Given the description of an element on the screen output the (x, y) to click on. 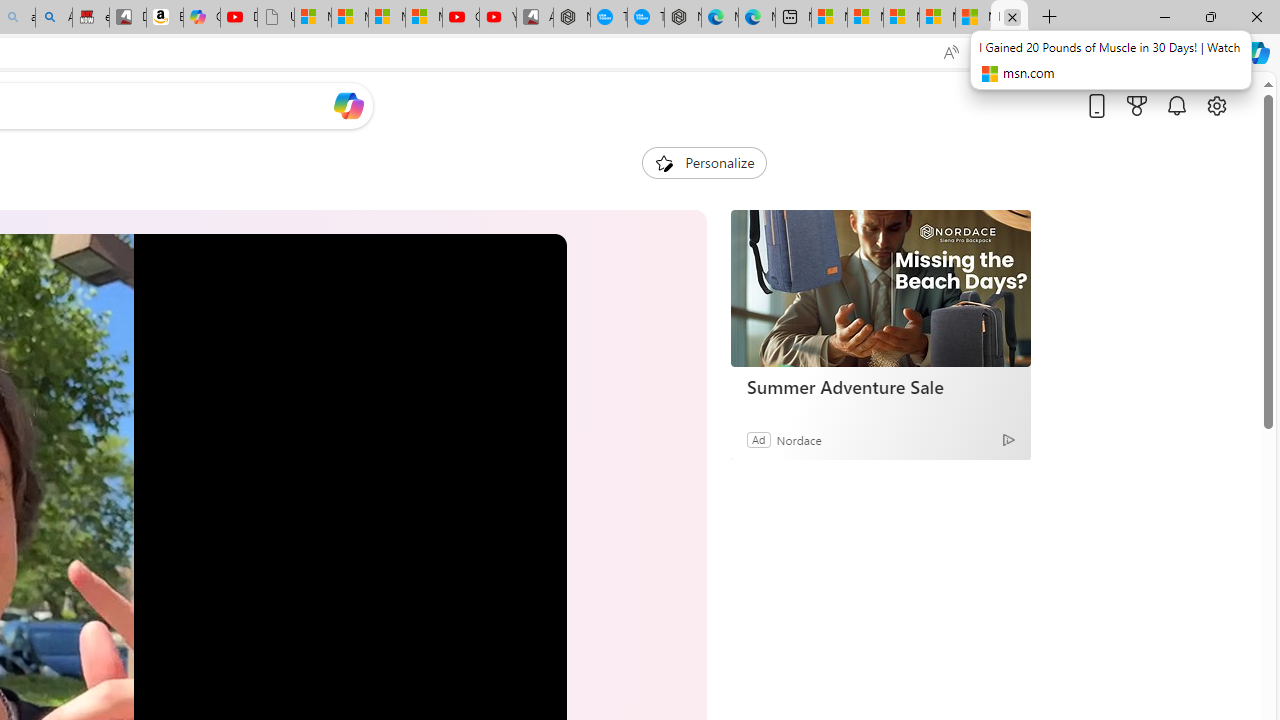
Day 1: Arriving in Yemen (surreal to be here) - YouTube (239, 17)
Microsoft account | Privacy (937, 17)
